Given the description of an element on the screen output the (x, y) to click on. 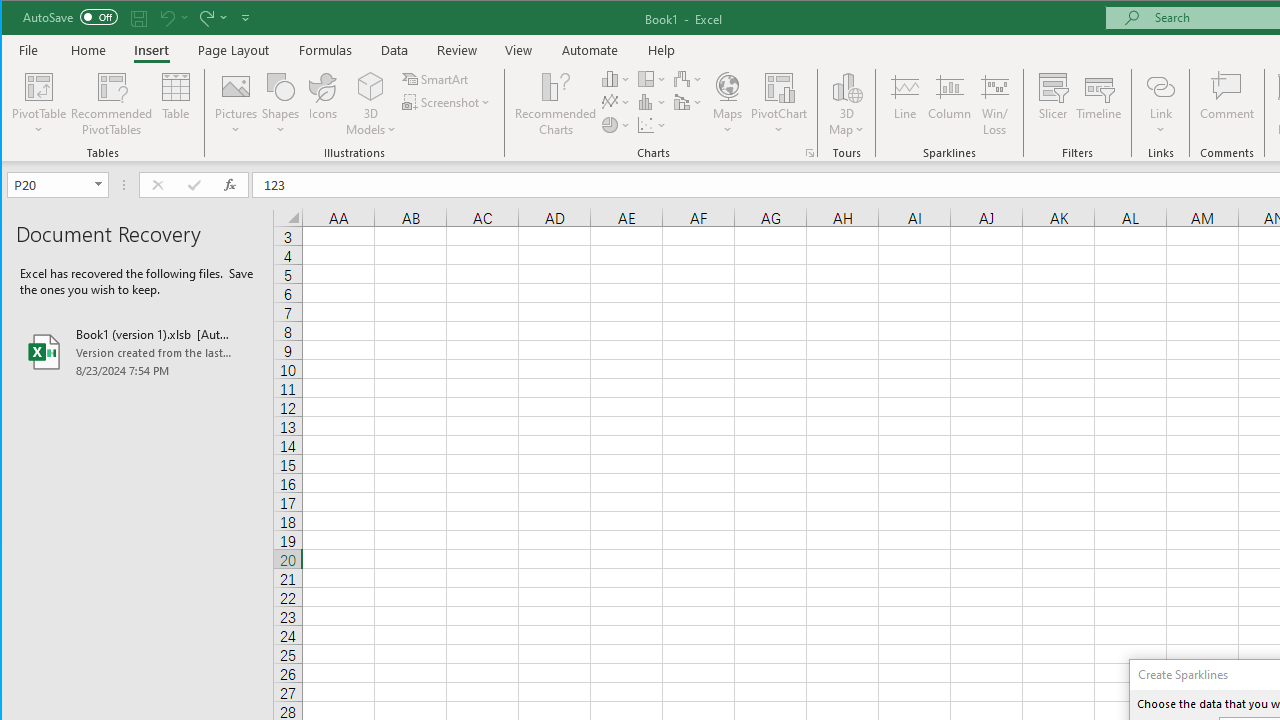
Screenshot (447, 101)
Shapes (280, 104)
Insert Combo Chart (688, 101)
Timeline (1098, 104)
